Given the description of an element on the screen output the (x, y) to click on. 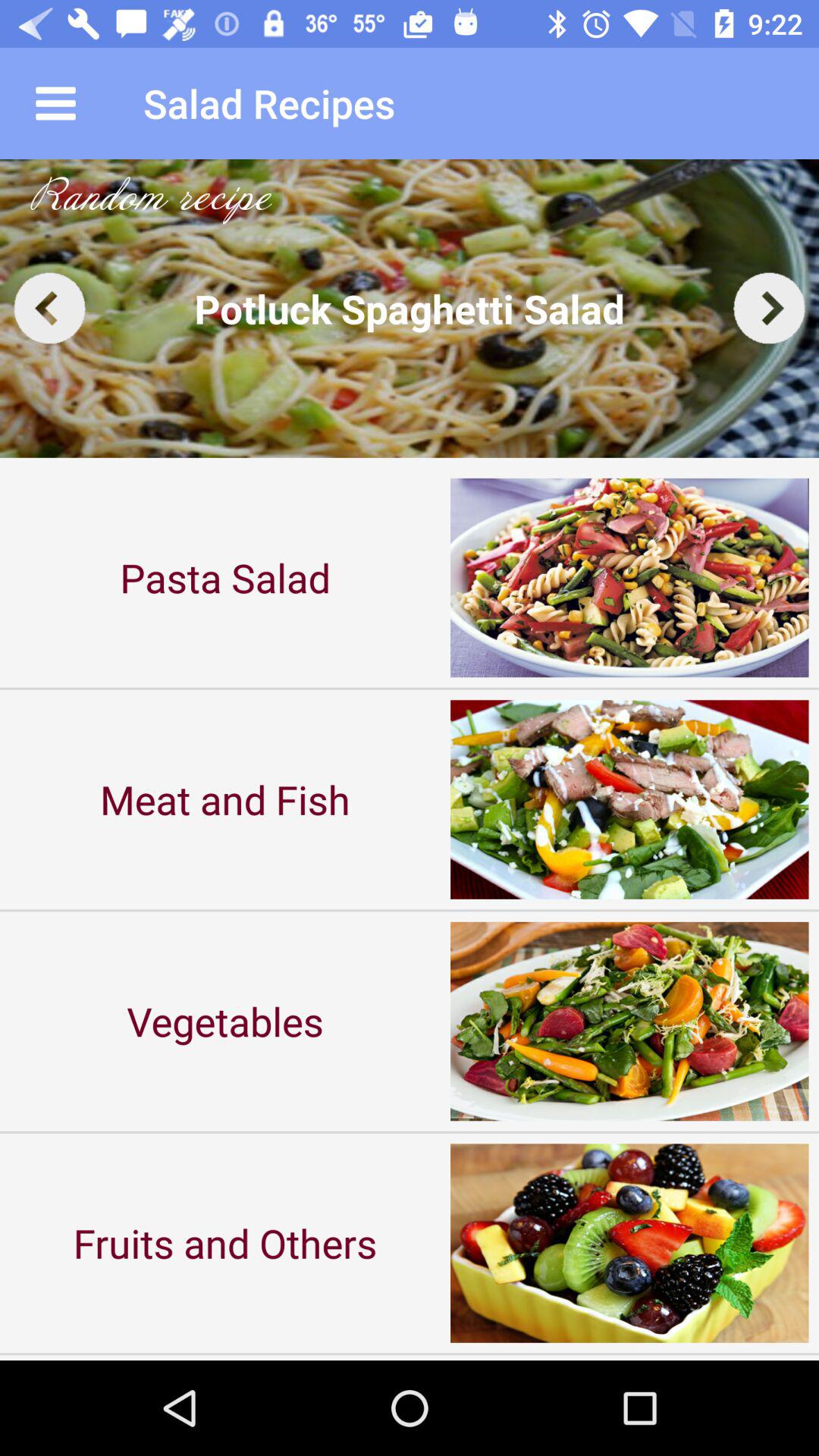
jump to the fruits and others (225, 1242)
